Given the description of an element on the screen output the (x, y) to click on. 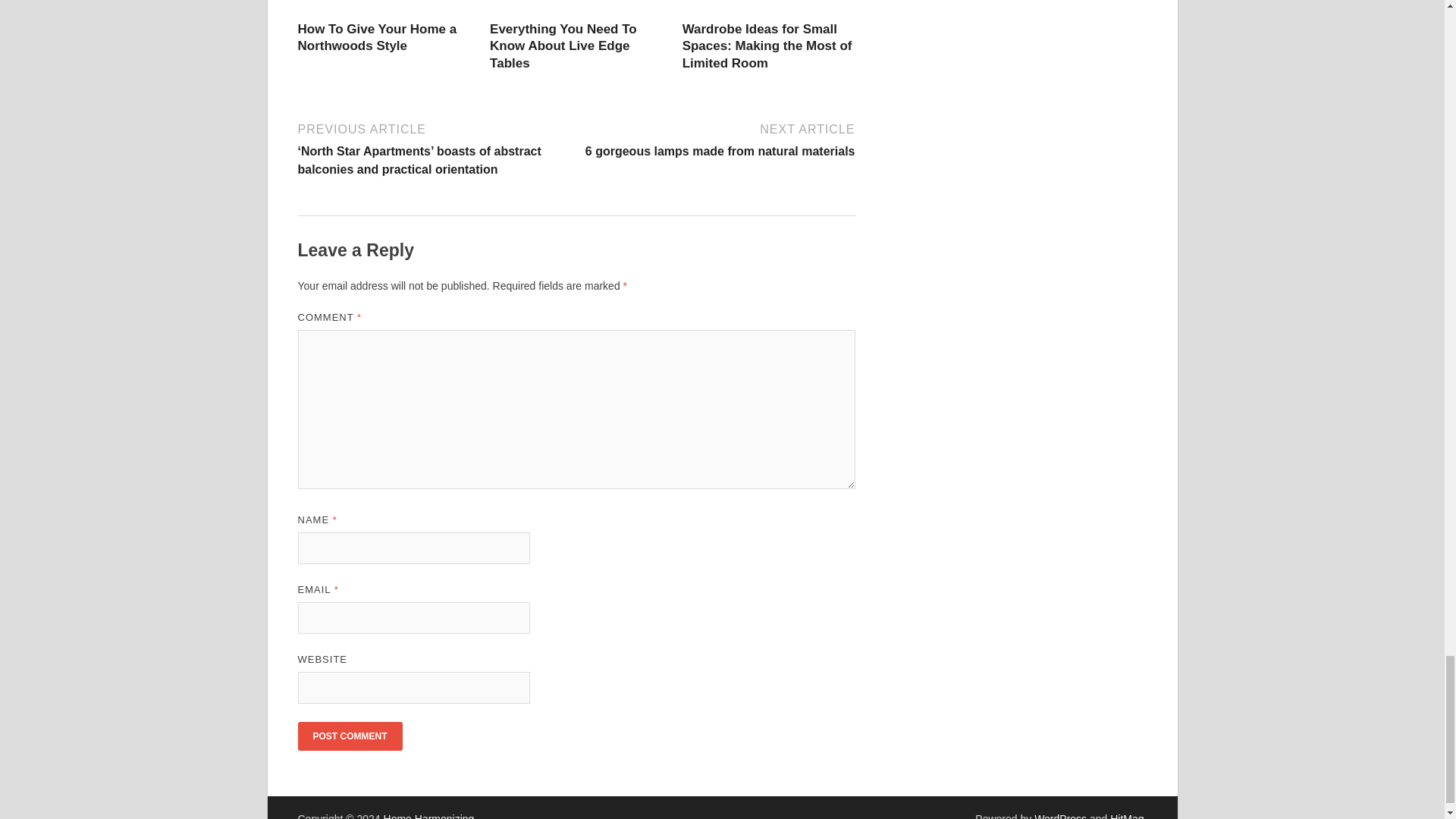
Everything You Need To Know About Live Edge Tables (563, 45)
Post Comment (349, 736)
How To Give Your Home a Northwoods Style (377, 37)
